Given the description of an element on the screen output the (x, y) to click on. 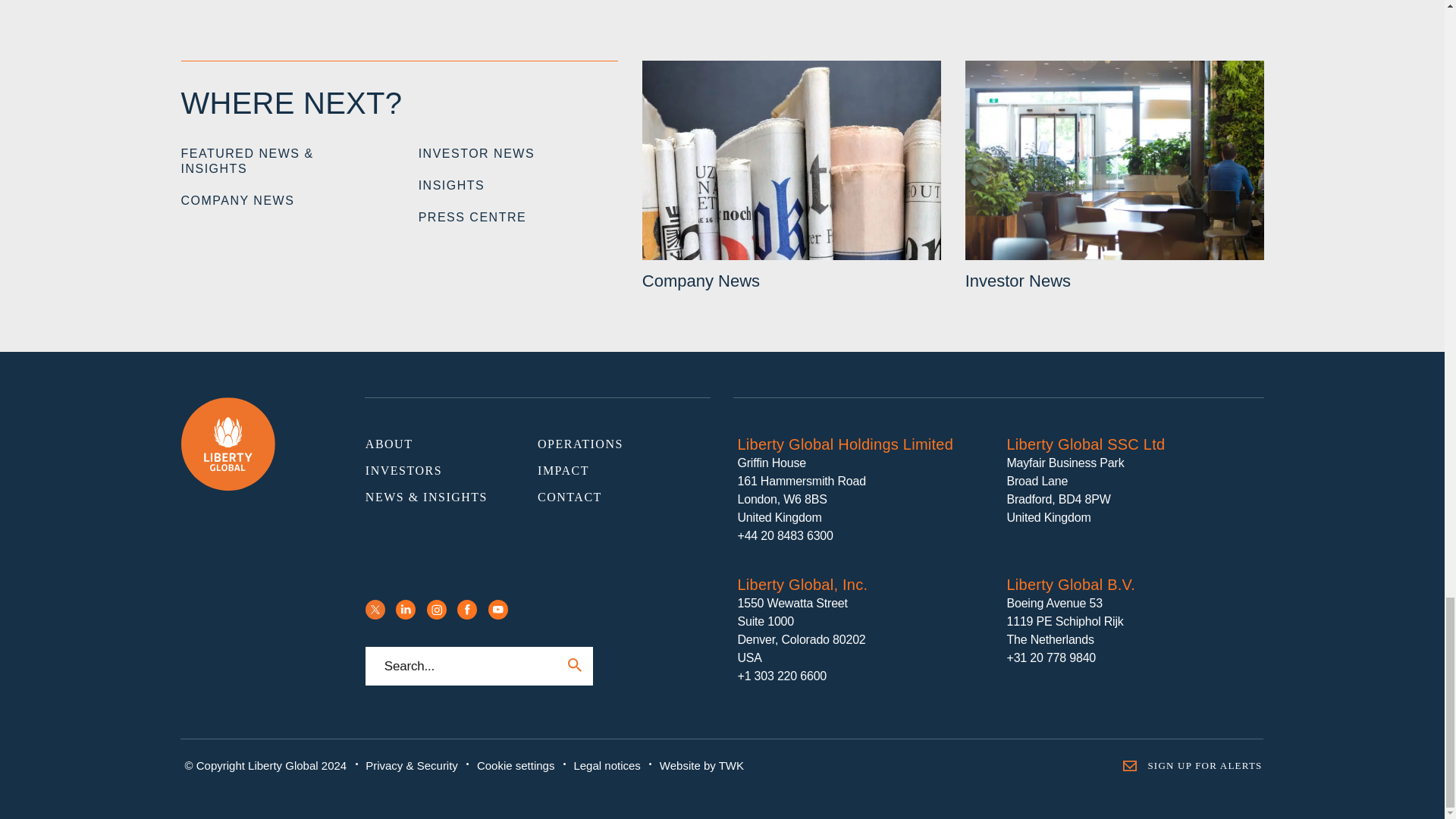
submit (573, 664)
